Given the description of an element on the screen output the (x, y) to click on. 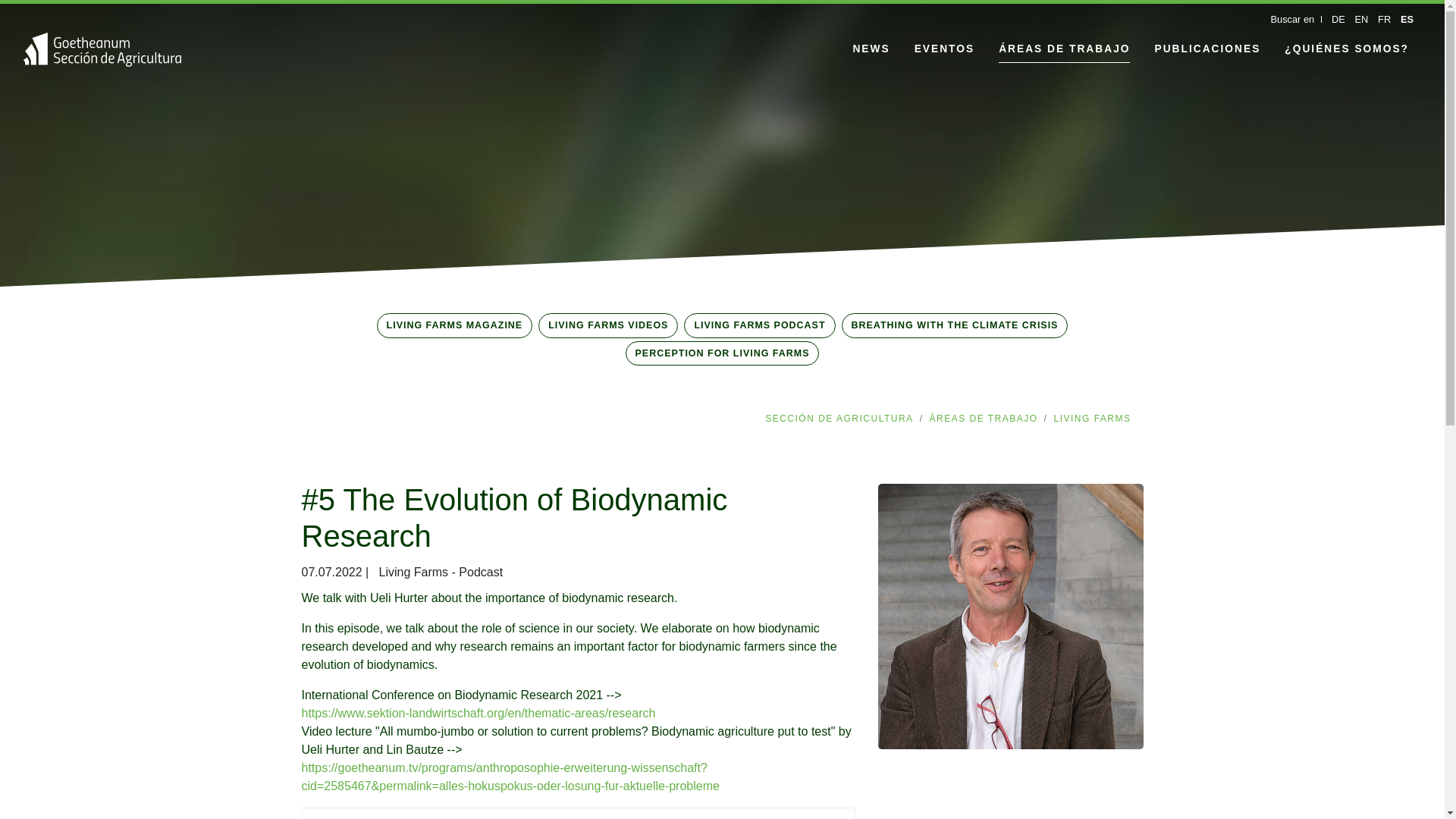
PUBLICACIONES (1206, 49)
News (870, 49)
EVENTOS (944, 49)
NEWS (870, 49)
